Given the description of an element on the screen output the (x, y) to click on. 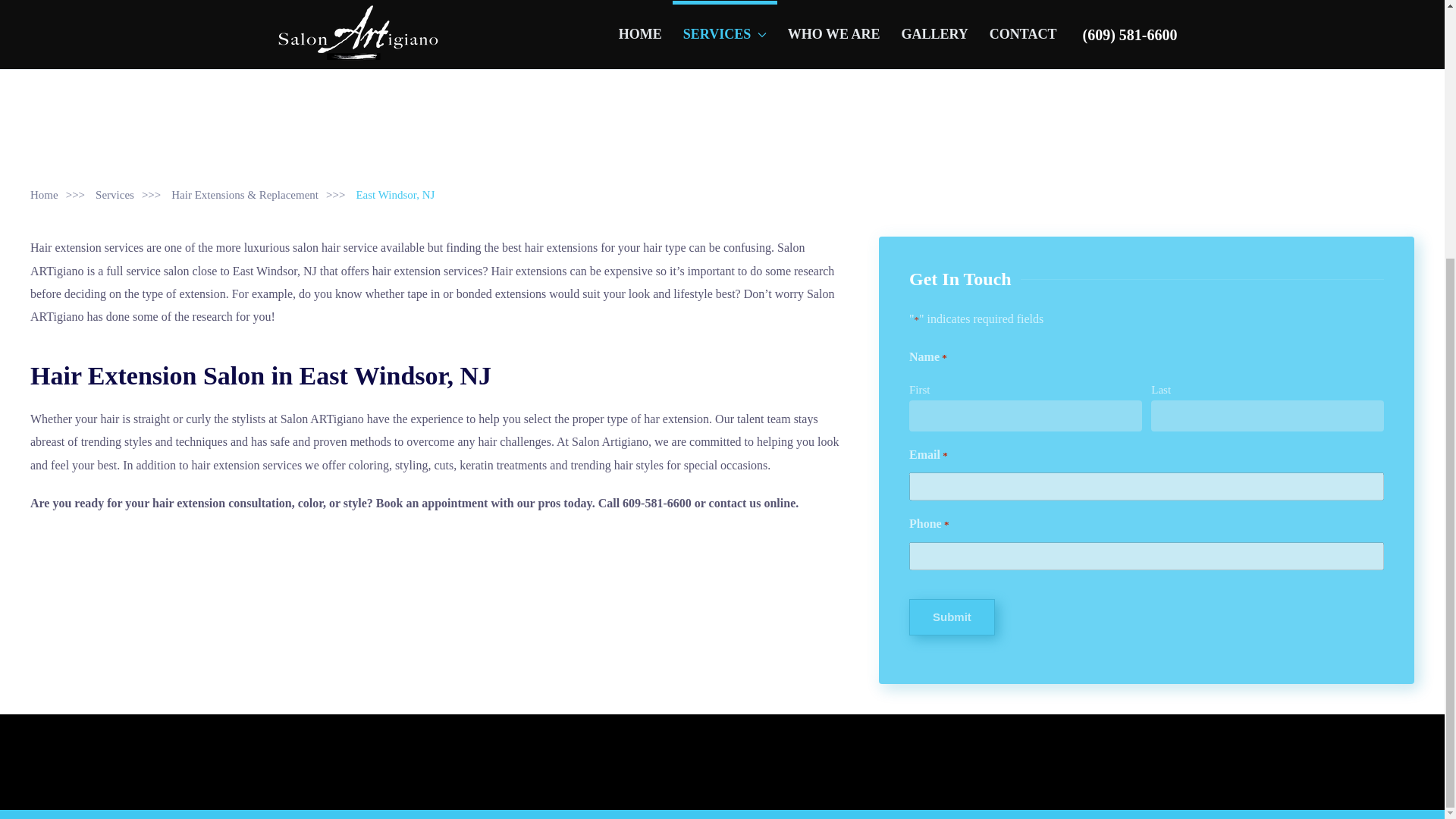
Services (114, 194)
Home (44, 194)
Submit (951, 616)
Submit (951, 616)
